Given the description of an element on the screen output the (x, y) to click on. 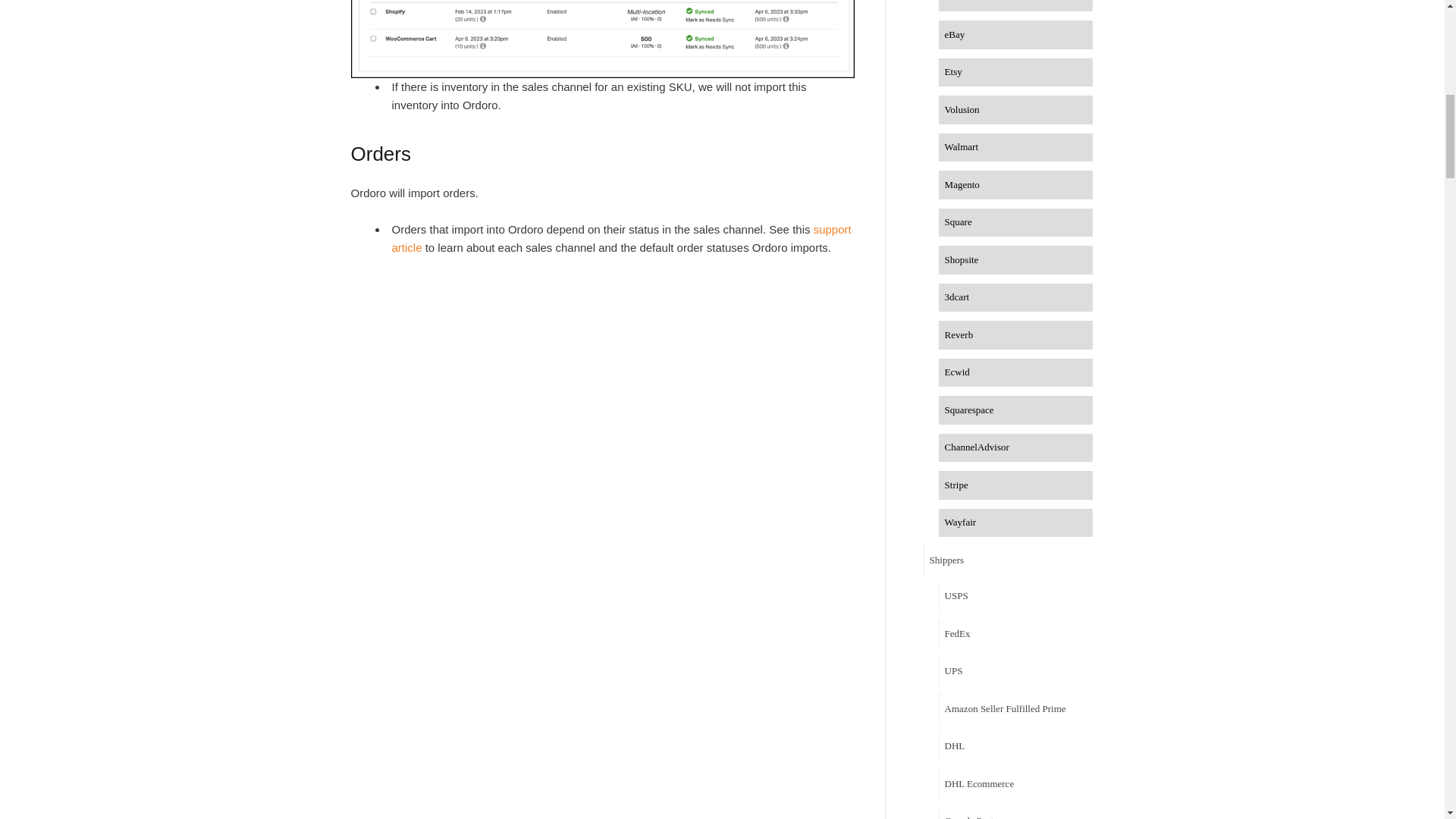
eBay (1016, 34)
WooCommerce (1016, 6)
support article (620, 237)
Etsy (1016, 72)
Volusion (1016, 109)
